Given the description of an element on the screen output the (x, y) to click on. 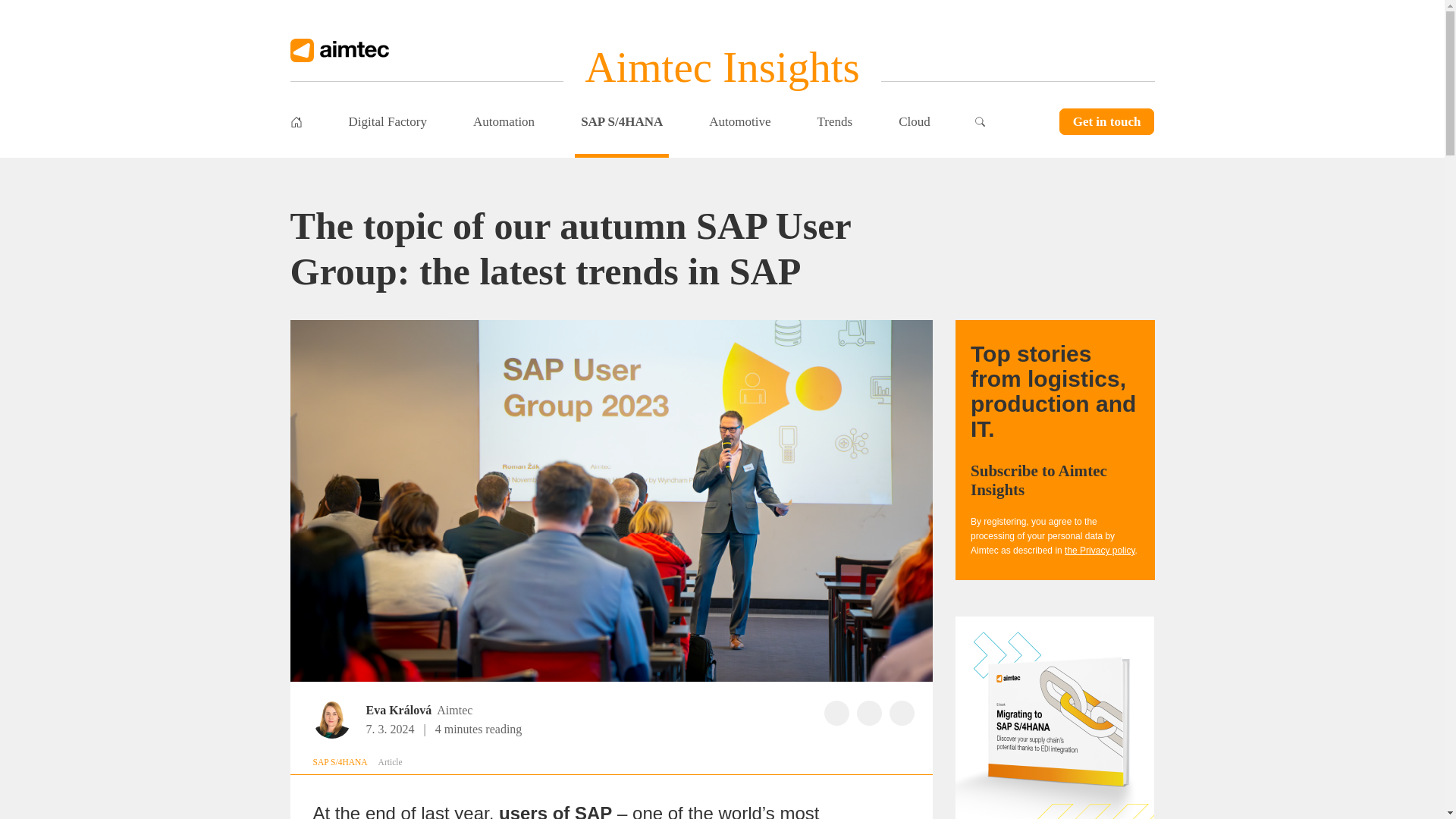
Digital Factory (387, 121)
Automation (503, 121)
Automation (503, 121)
Get in touch (1106, 121)
the Privacy policy (1099, 550)
Aimtec Insights (721, 66)
Automotive (739, 121)
Automotive (739, 121)
Digital Factory (387, 121)
